Given the description of an element on the screen output the (x, y) to click on. 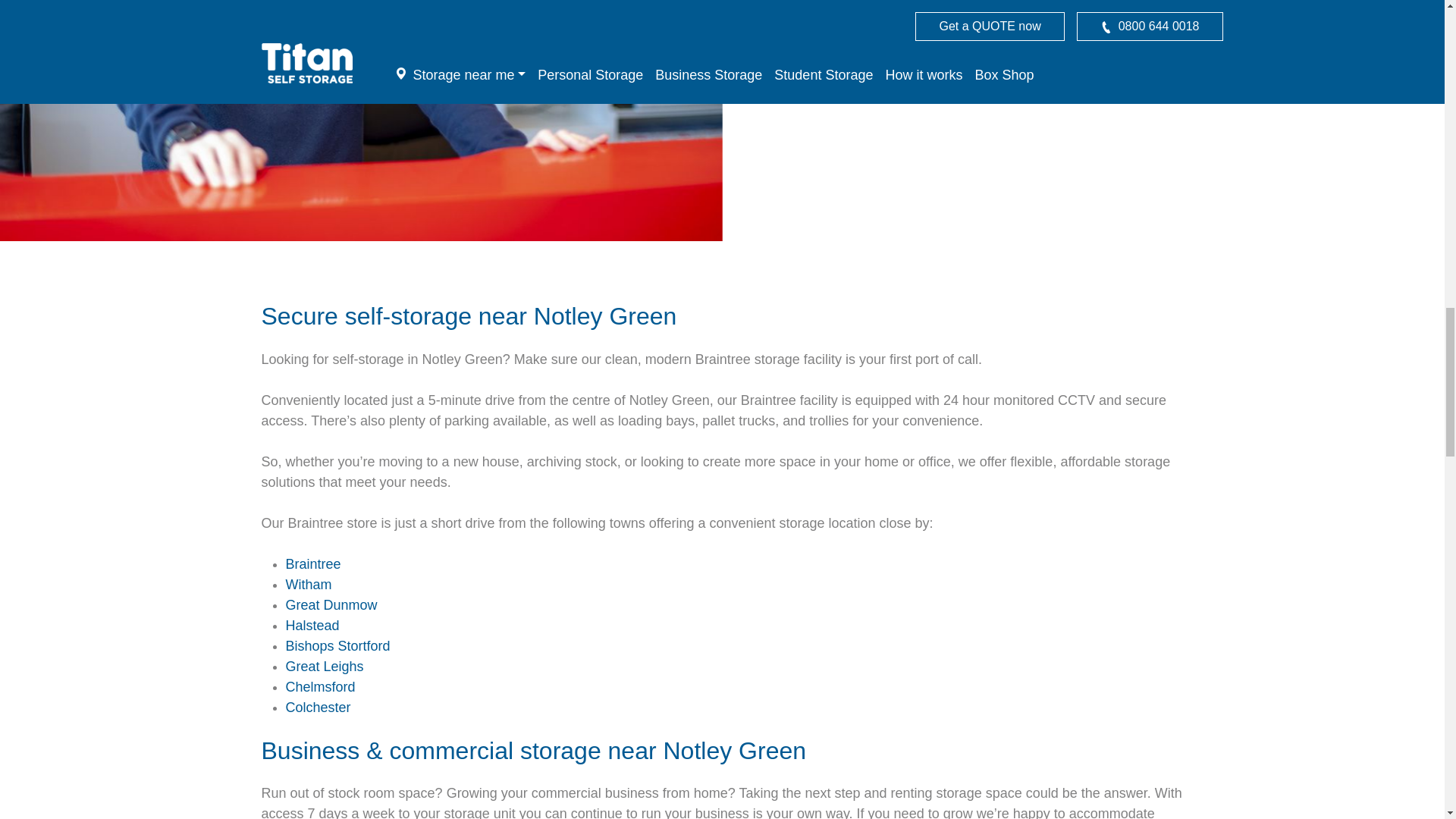
Braintree (312, 563)
Great Dunmow (331, 604)
Witham (308, 584)
Bishops Stortford (337, 645)
Chelmsford (320, 686)
Halstead (312, 625)
Great Leighs (323, 666)
